Given the description of an element on the screen output the (x, y) to click on. 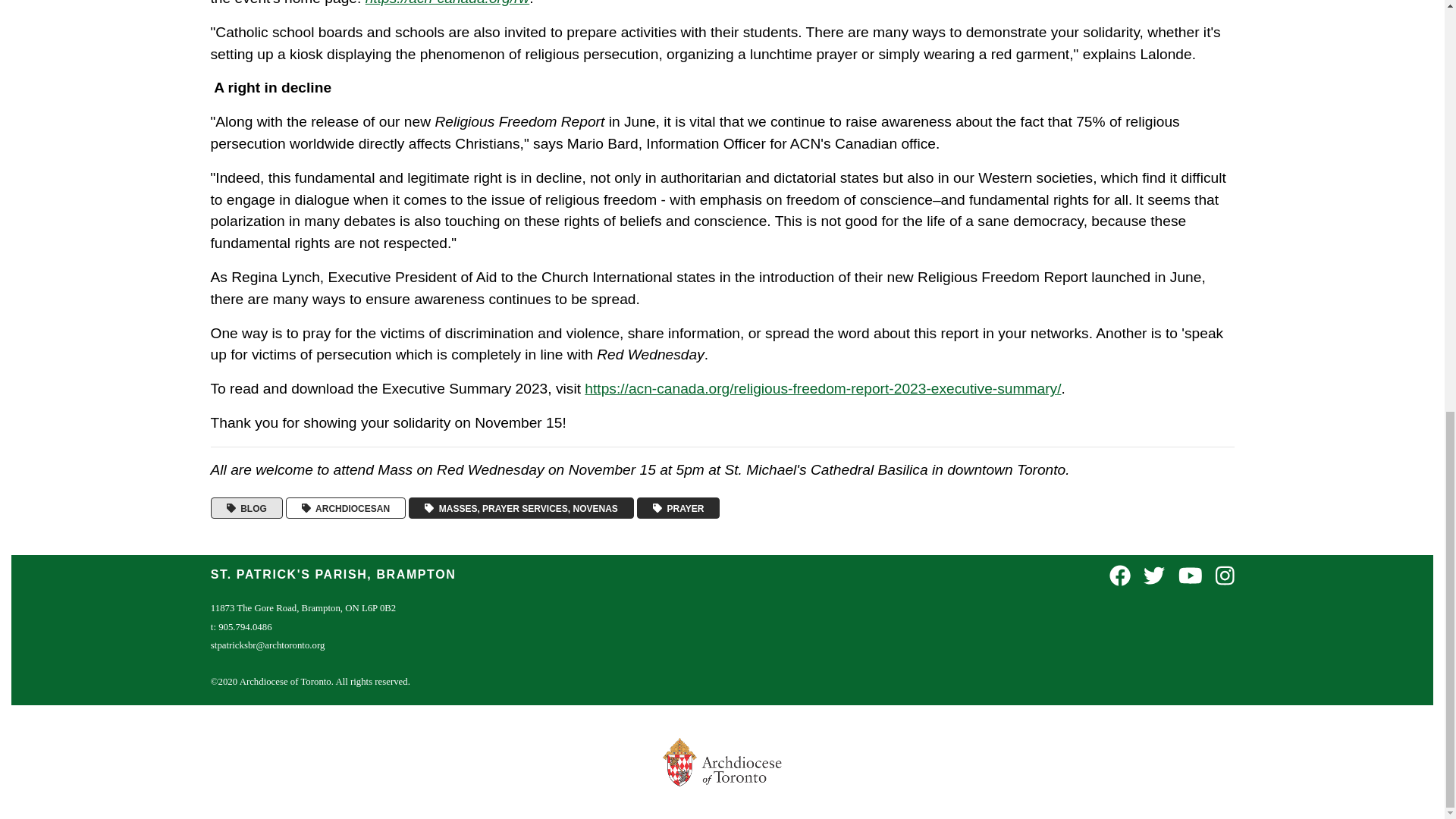
Visit us on Facebook (1120, 576)
Contact us by email (267, 644)
Archdiocese of Toronto (345, 508)
Visit us on YouTube (1189, 576)
Visit us on Twitter (1153, 576)
Contact us by phone (241, 626)
Prayer (678, 508)
Get directions (303, 607)
Masses, Prayer Services, Novenas (521, 508)
Blog (246, 508)
